Given the description of an element on the screen output the (x, y) to click on. 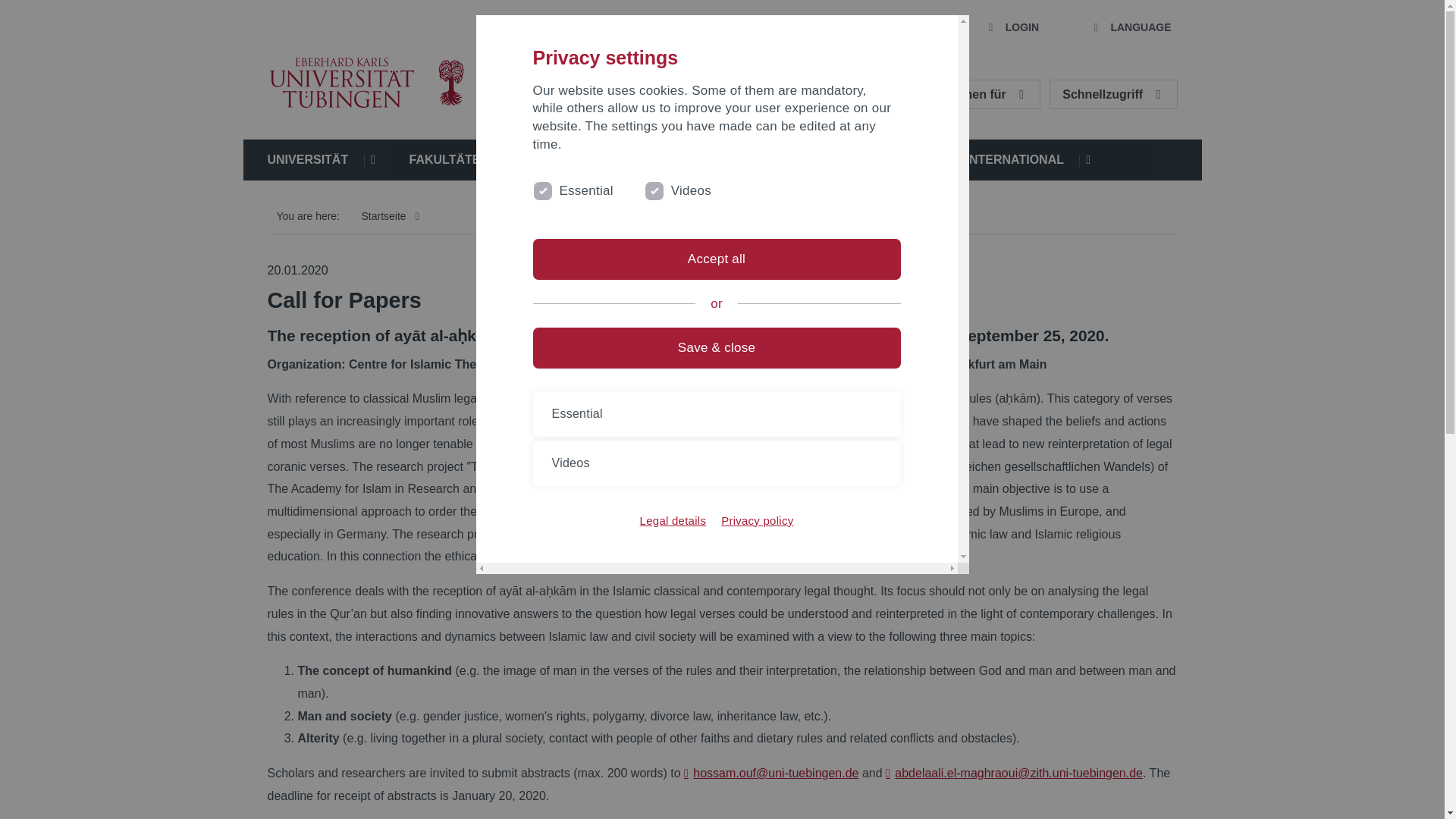
LANGUAGE (1130, 28)
UNI A-Z (676, 28)
external (652, 188)
LOGIN (1011, 28)
Uni A-Z (676, 28)
Language (1130, 28)
Search (901, 28)
essential (539, 188)
Schnellzugriff (1112, 93)
Skip to main navigation (278, 17)
KONTAKT (786, 28)
Login (1011, 28)
Kontakt (786, 28)
SEARCH (901, 28)
